Given the description of an element on the screen output the (x, y) to click on. 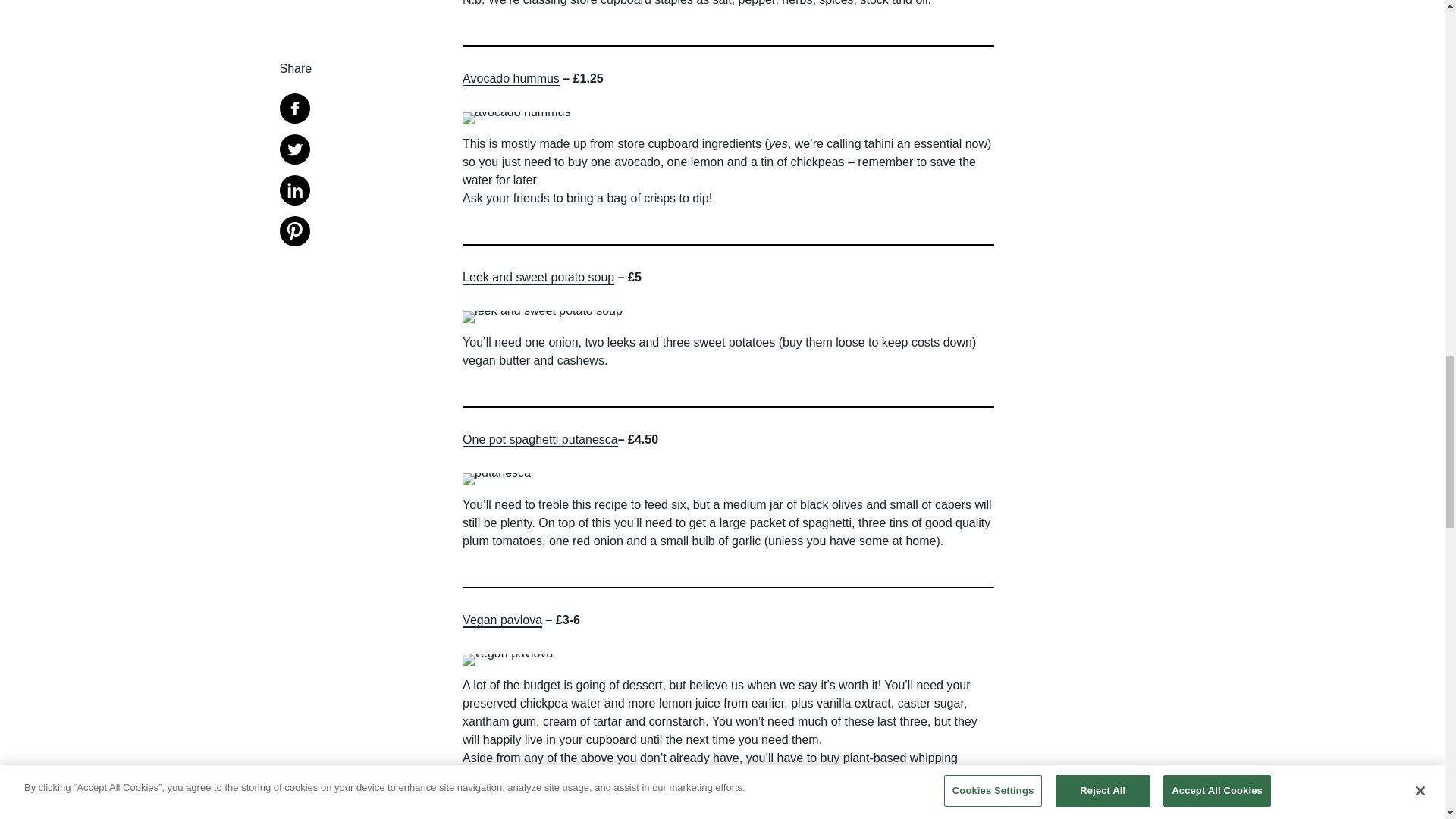
One pot spaghetti putanesca (540, 440)
Vegan pavlova (502, 620)
Avocado hummus (511, 79)
Leek and sweet potato soup (538, 278)
